Given the description of an element on the screen output the (x, y) to click on. 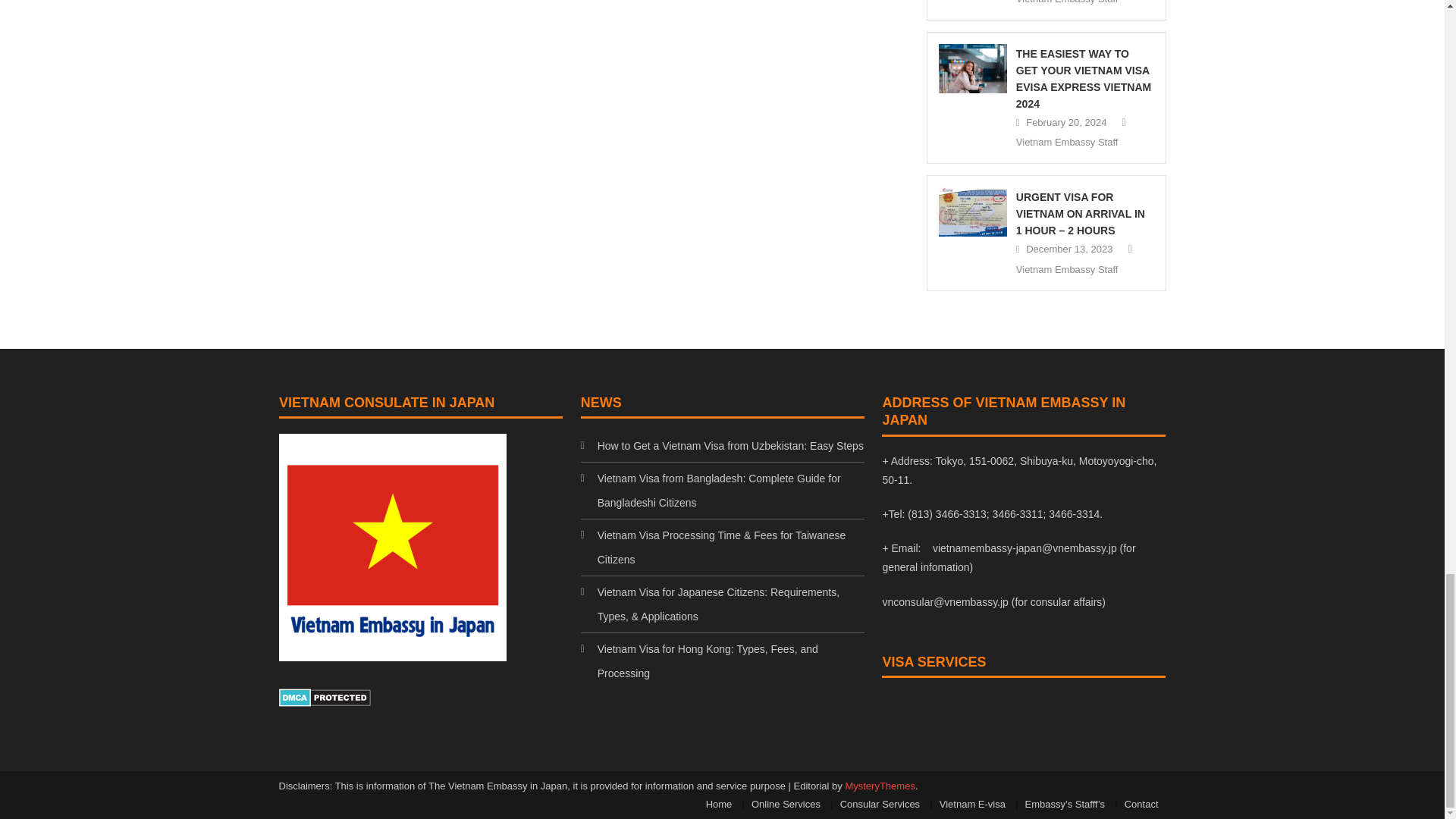
DMCA.com Protection Status (325, 696)
